Given the description of an element on the screen output the (x, y) to click on. 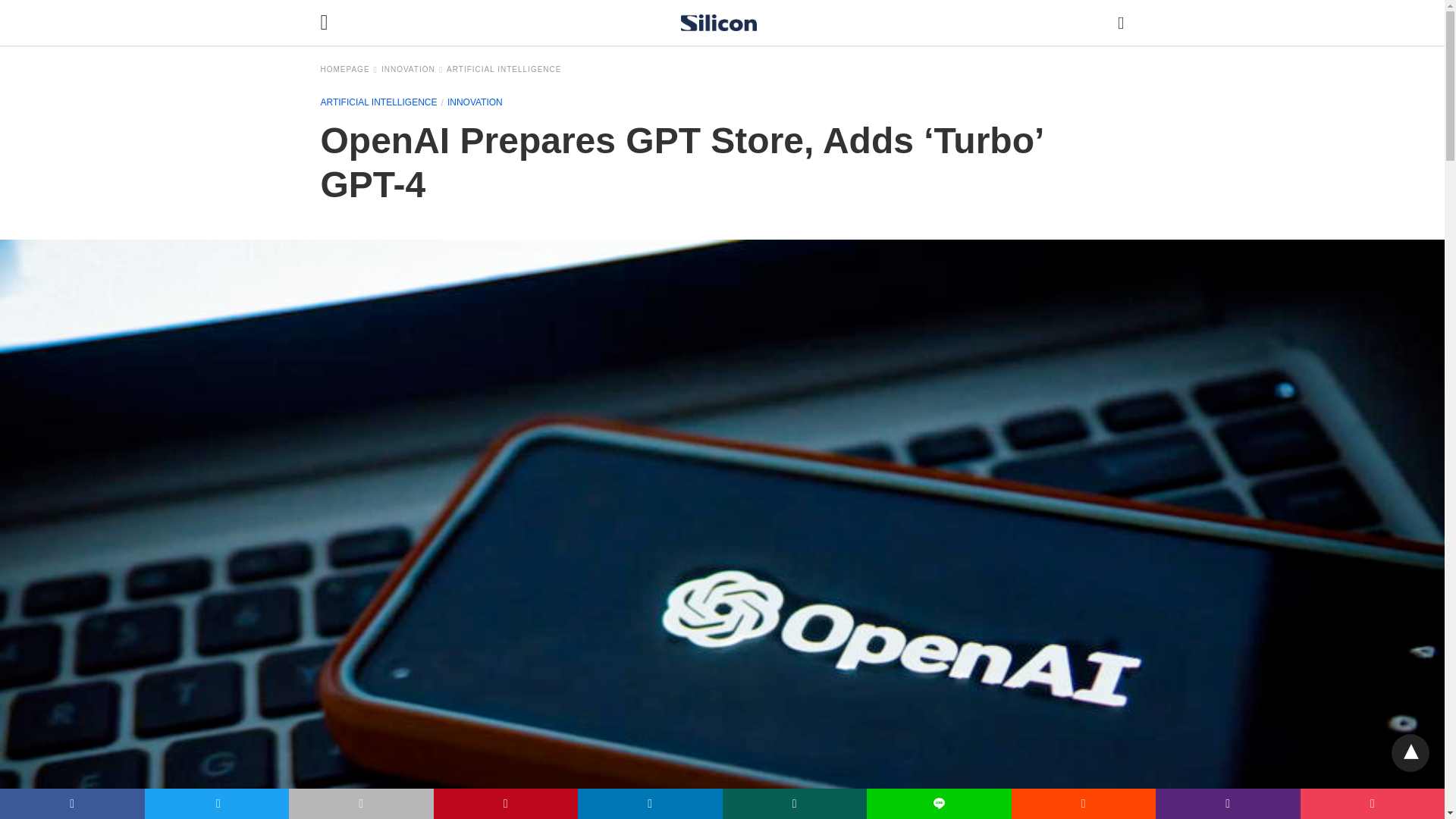
ARTIFICIAL INTELLIGENCE (503, 69)
Innovation (474, 102)
Artificial Intelligence (503, 69)
Homepage (348, 69)
INNOVATION (474, 102)
Innovation (411, 69)
HOMEPAGE (348, 69)
INNOVATION (411, 69)
Artificial Intelligence (378, 102)
Silicon UK (719, 22)
